Given the description of an element on the screen output the (x, y) to click on. 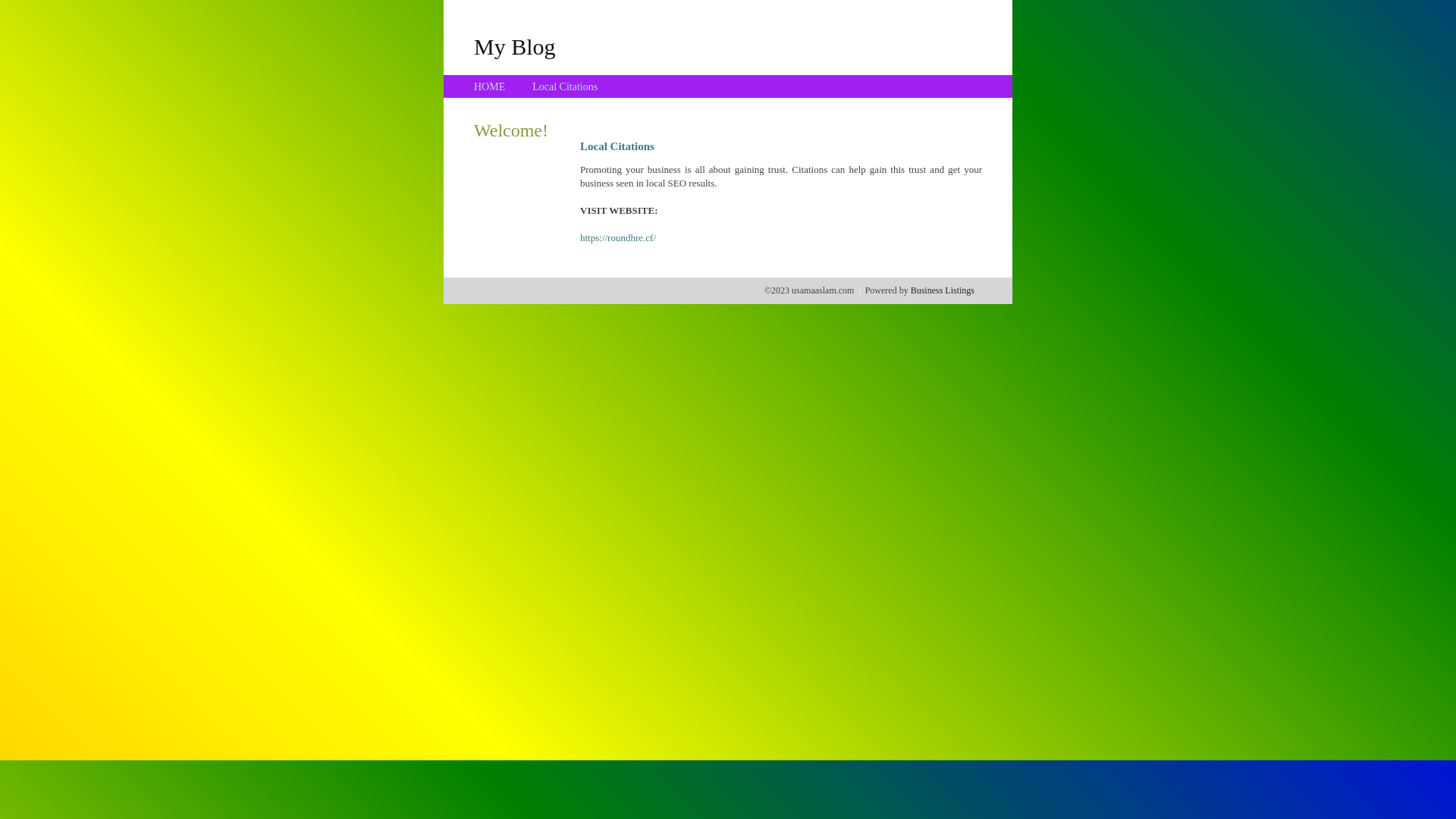
My Blog Element type: text (514, 46)
https://roundhre.cf/ Element type: text (617, 237)
Business Listings Element type: text (942, 290)
HOME Element type: text (489, 86)
Local Citations Element type: text (564, 86)
